Given the description of an element on the screen output the (x, y) to click on. 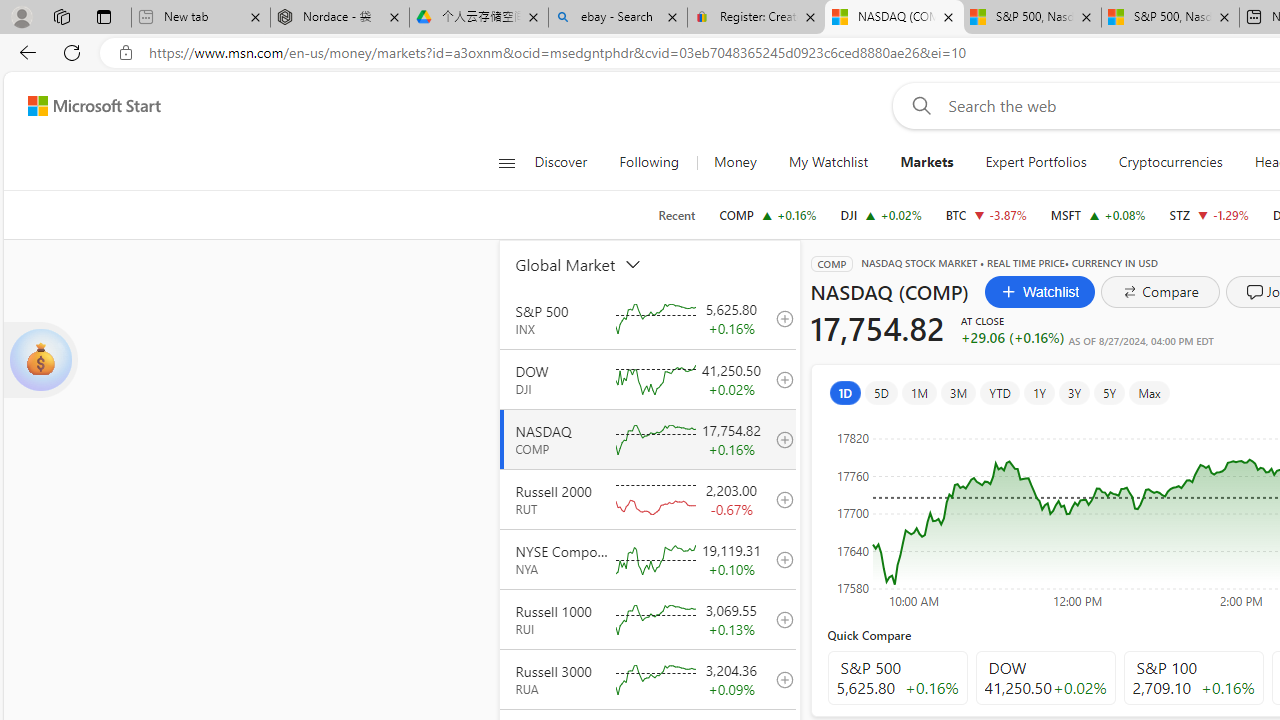
Expert Portfolios (1035, 162)
3Y (1074, 392)
Compare (1159, 291)
ebay - Search (618, 17)
Register: Create a personal eBay account (756, 17)
BTC Bitcoin decrease 60,043.79 -2,323.69 -3.87% (986, 214)
Cryptocurrencies (1169, 162)
Expert Portfolios (1035, 162)
Class: button-glyph (505, 162)
My Watchlist (828, 162)
Skip to footer (82, 105)
